Given the description of an element on the screen output the (x, y) to click on. 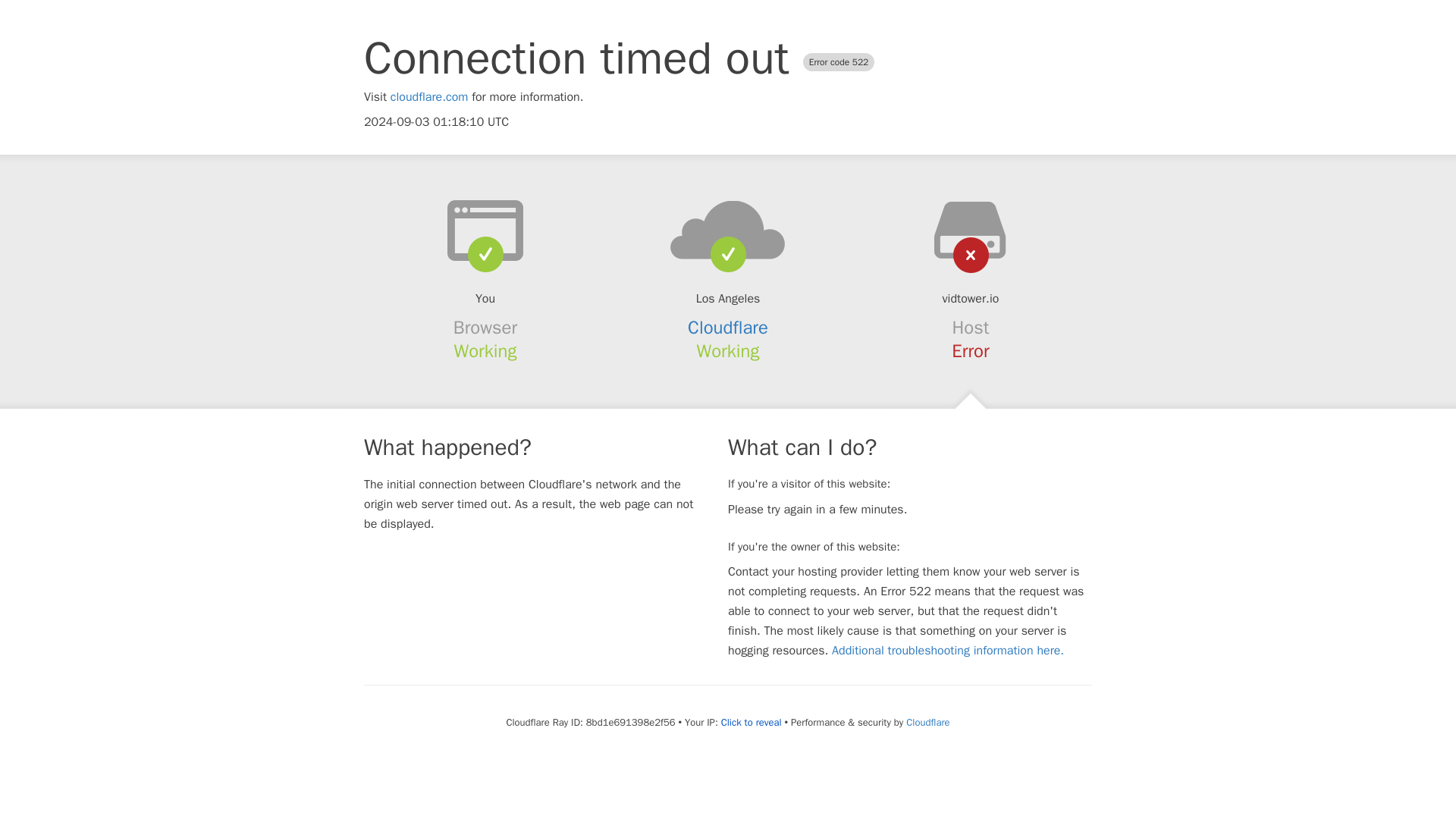
cloudflare.com (429, 96)
Click to reveal (750, 722)
Cloudflare (727, 327)
Cloudflare (927, 721)
Additional troubleshooting information here. (947, 650)
